Given the description of an element on the screen output the (x, y) to click on. 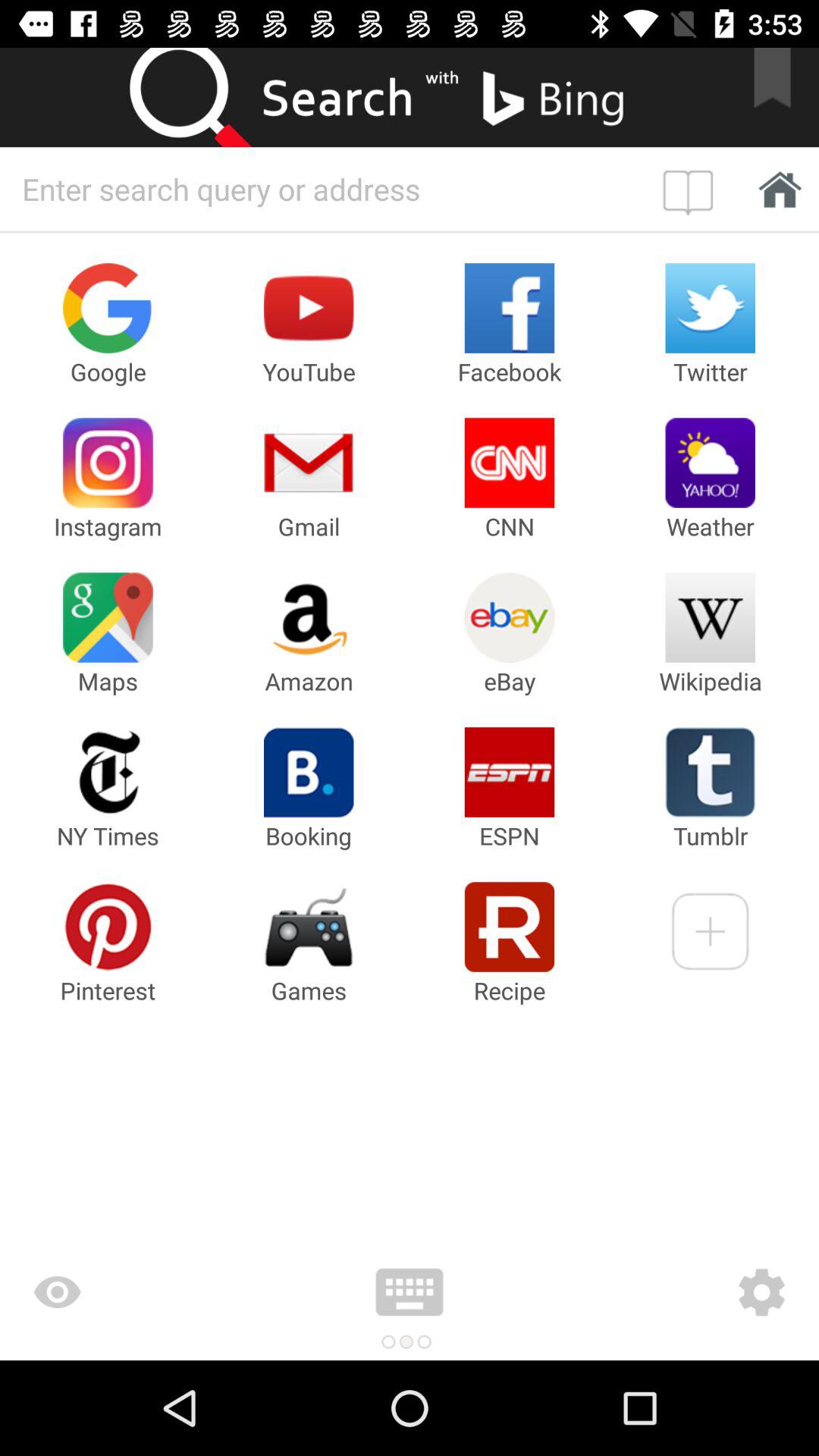
settings icon (671, 1292)
